Given the description of an element on the screen output the (x, y) to click on. 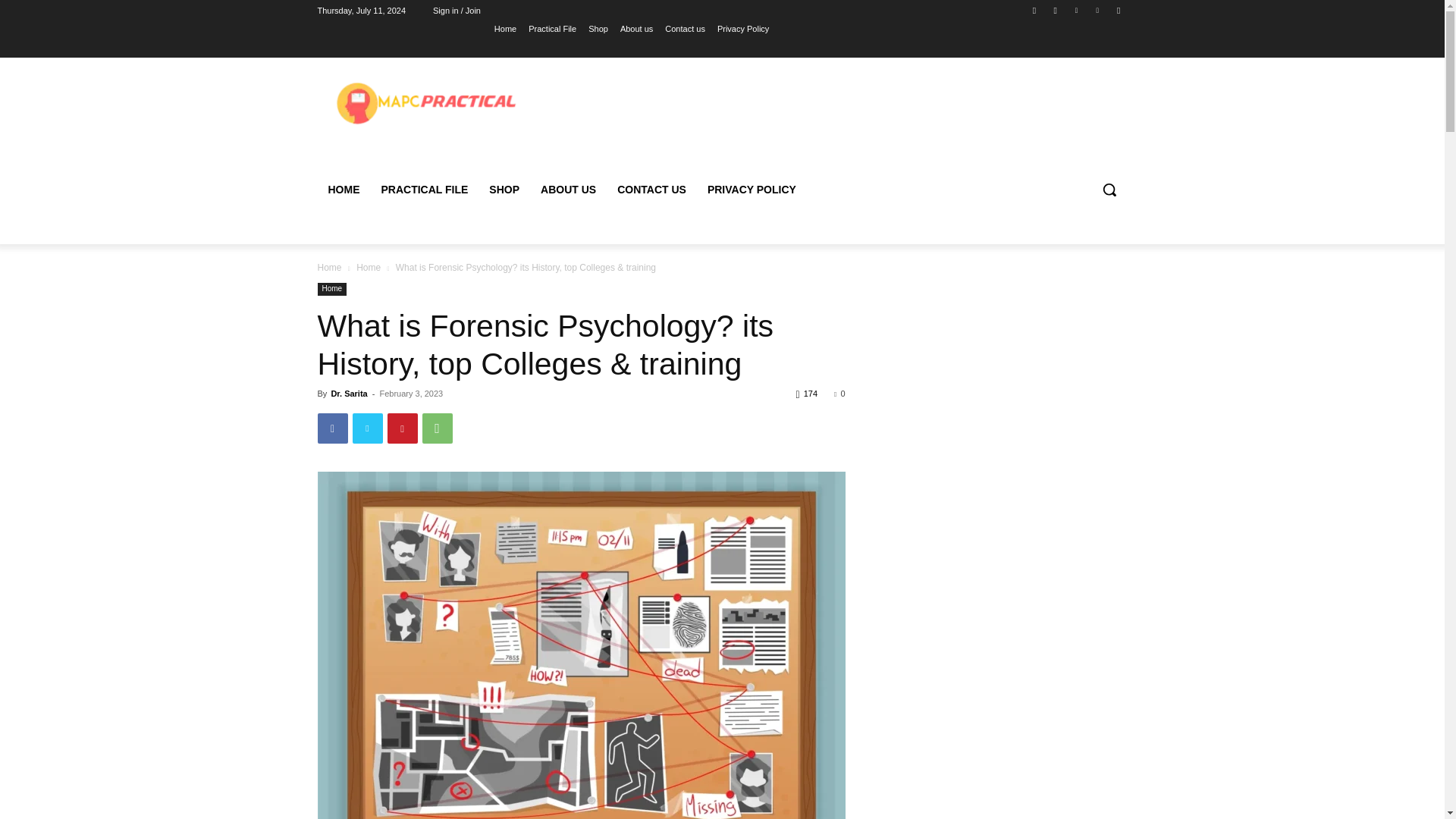
CONTACT US (652, 189)
Vimeo (1097, 9)
Pinterest (401, 428)
View all posts in Home (368, 267)
Twitter (366, 428)
Home (368, 267)
Dr. Sarita (348, 393)
Shop (598, 28)
About us (636, 28)
HOME (343, 189)
ABOUT US (568, 189)
PRACTICAL FILE (424, 189)
Practical File (552, 28)
Privacy Policy (742, 28)
Home (328, 267)
